Given the description of an element on the screen output the (x, y) to click on. 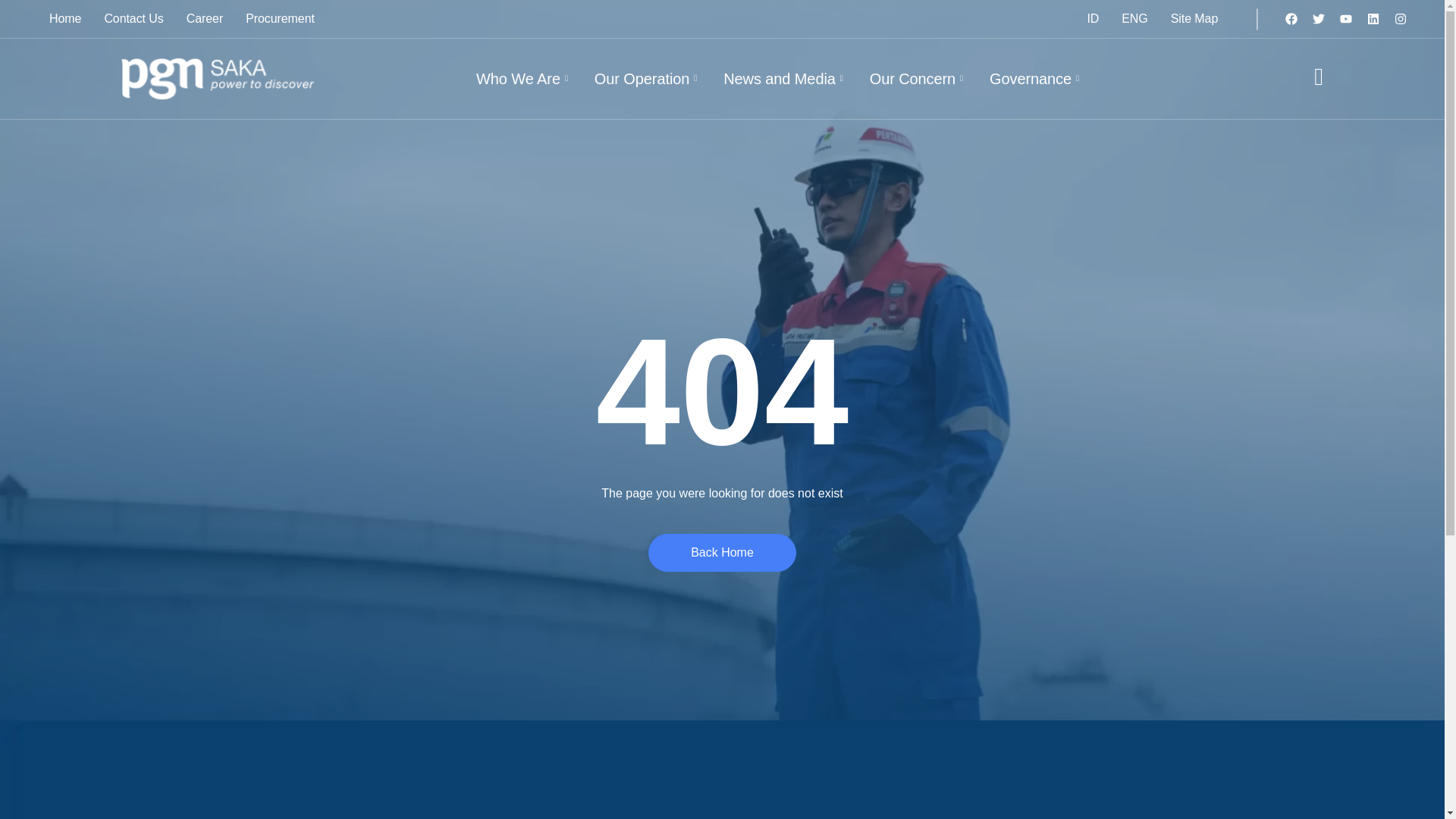
Career (204, 18)
Contact Us (133, 18)
Home (65, 18)
News and Media (785, 78)
ENG (1133, 18)
Site Map (1194, 18)
ID (1092, 18)
Procurement (280, 18)
Our Operation (647, 78)
Who We Are (523, 78)
